Given the description of an element on the screen output the (x, y) to click on. 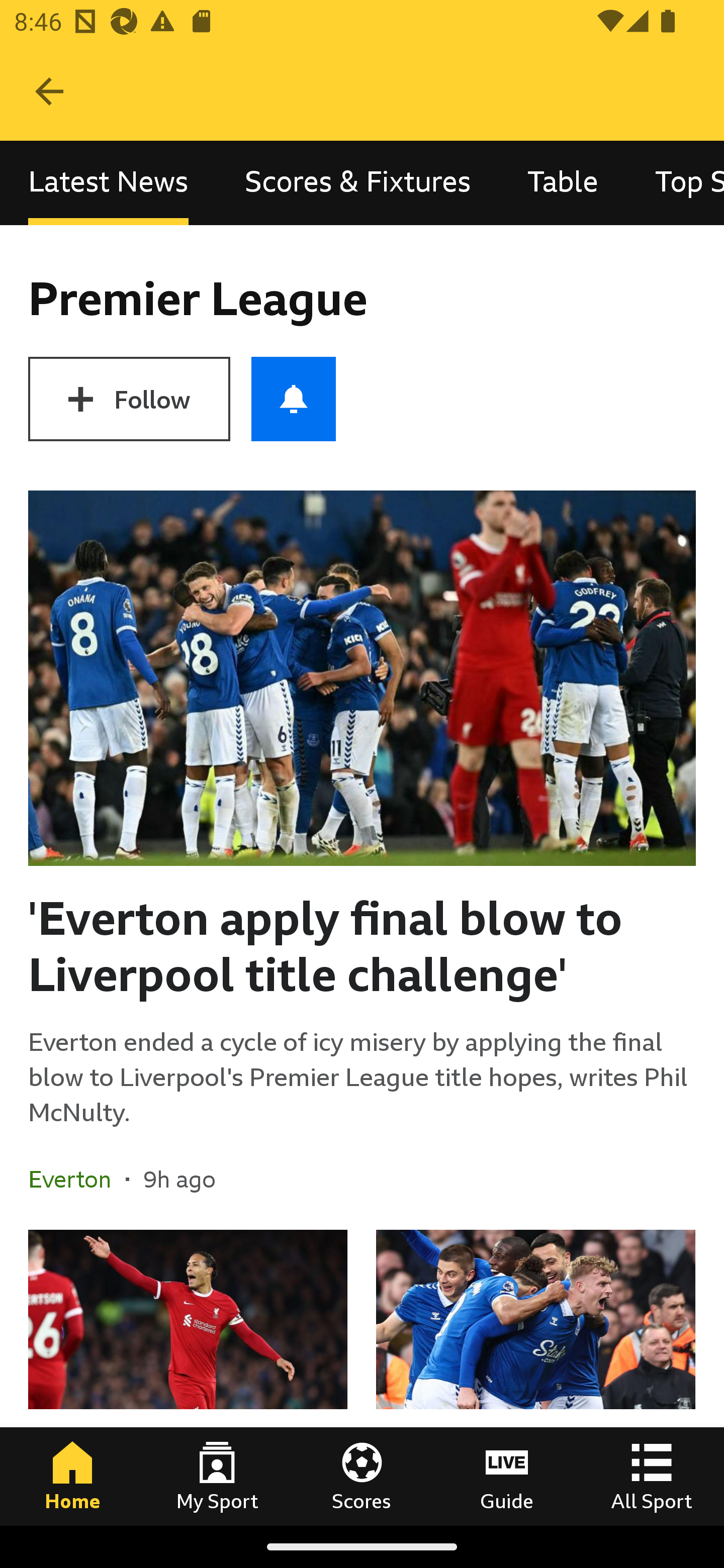
Navigate up (49, 91)
Latest News, selected Latest News (108, 183)
Scores & Fixtures (357, 183)
Table (562, 183)
Follow Premier League Follow (129, 398)
Push notifications for Premier League (293, 398)
Everton In the section Everton (76, 1178)
Van Dijk questions desire of team-mates after loss (188, 1377)
My Sport (216, 1475)
Scores (361, 1475)
Guide (506, 1475)
All Sport (651, 1475)
